Given the description of an element on the screen output the (x, y) to click on. 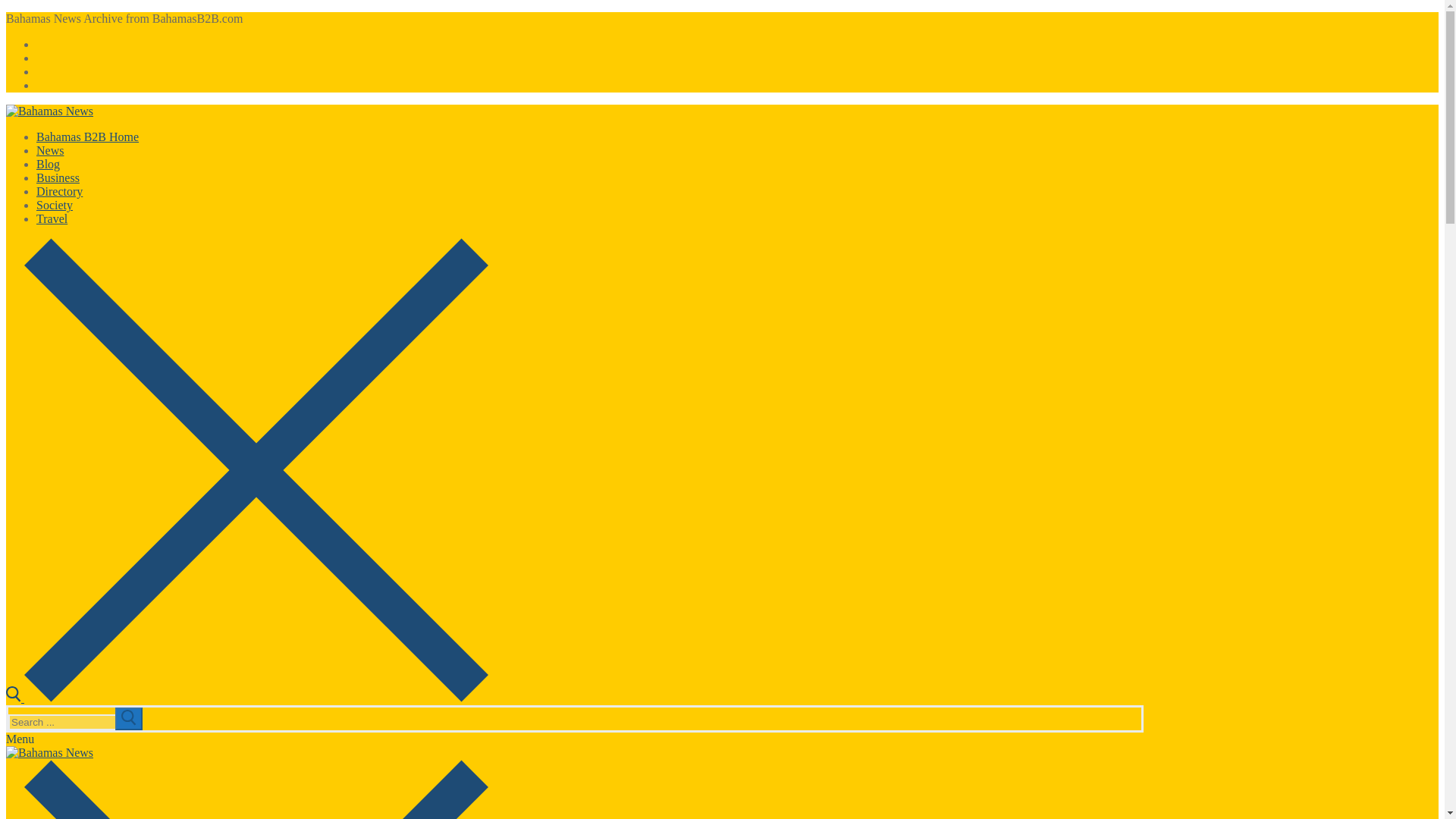
Bahamas B2B Home (87, 136)
Menu (19, 738)
Directory (59, 191)
Business (58, 177)
News (50, 150)
Society (54, 205)
Search for: (75, 722)
Travel (51, 218)
Blog (47, 164)
